Given the description of an element on the screen output the (x, y) to click on. 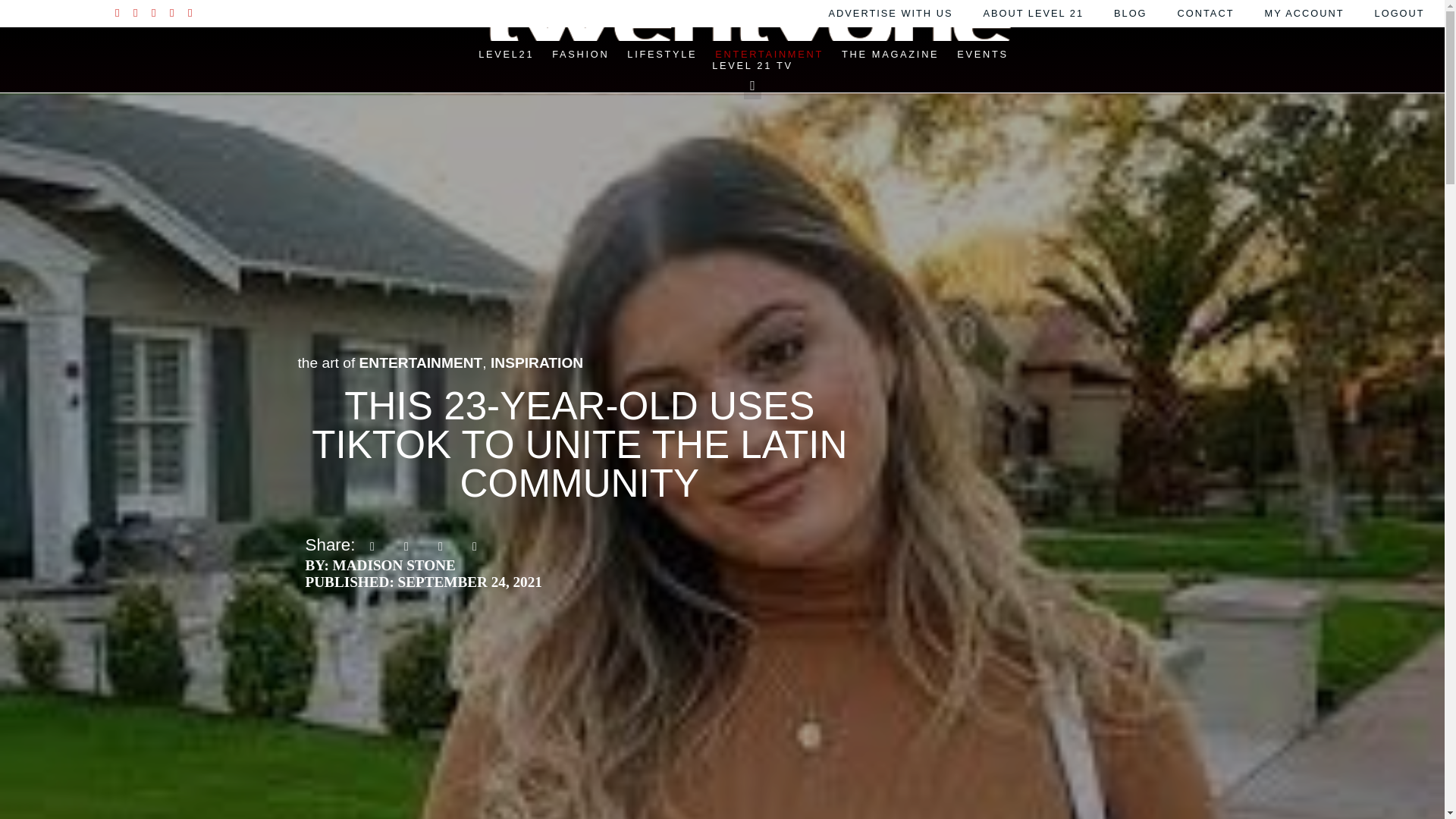
ADVERTISE WITH US (890, 13)
MY ACCOUNT (1303, 13)
BLOG (1130, 13)
ABOUT LEVEL 21 (1033, 13)
Home Page (506, 53)
CONTACT (1205, 13)
LOGOUT (1399, 13)
